Given the description of an element on the screen output the (x, y) to click on. 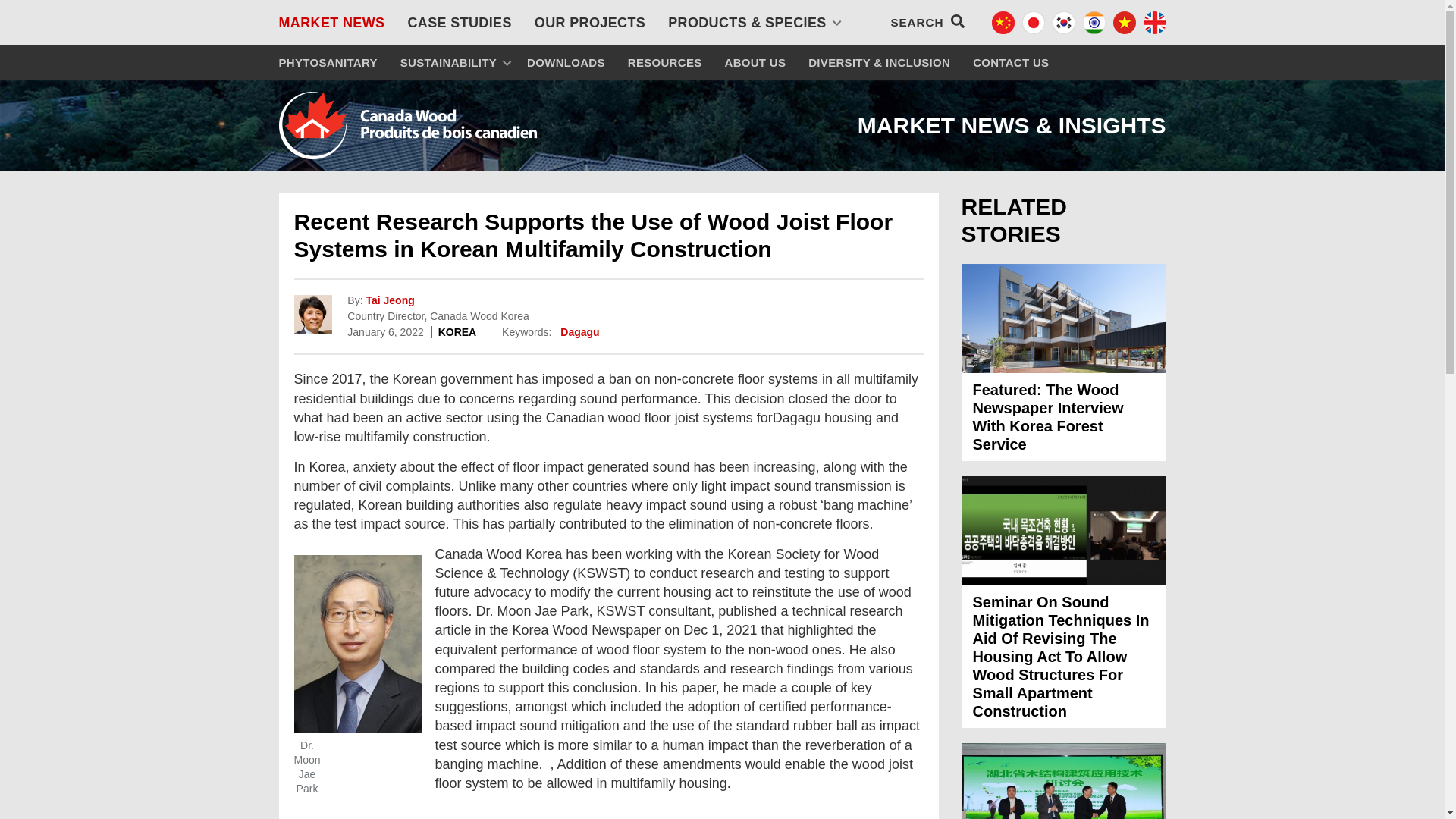
SEARCH (926, 21)
MARKET NEWS (331, 22)
